Given the description of an element on the screen output the (x, y) to click on. 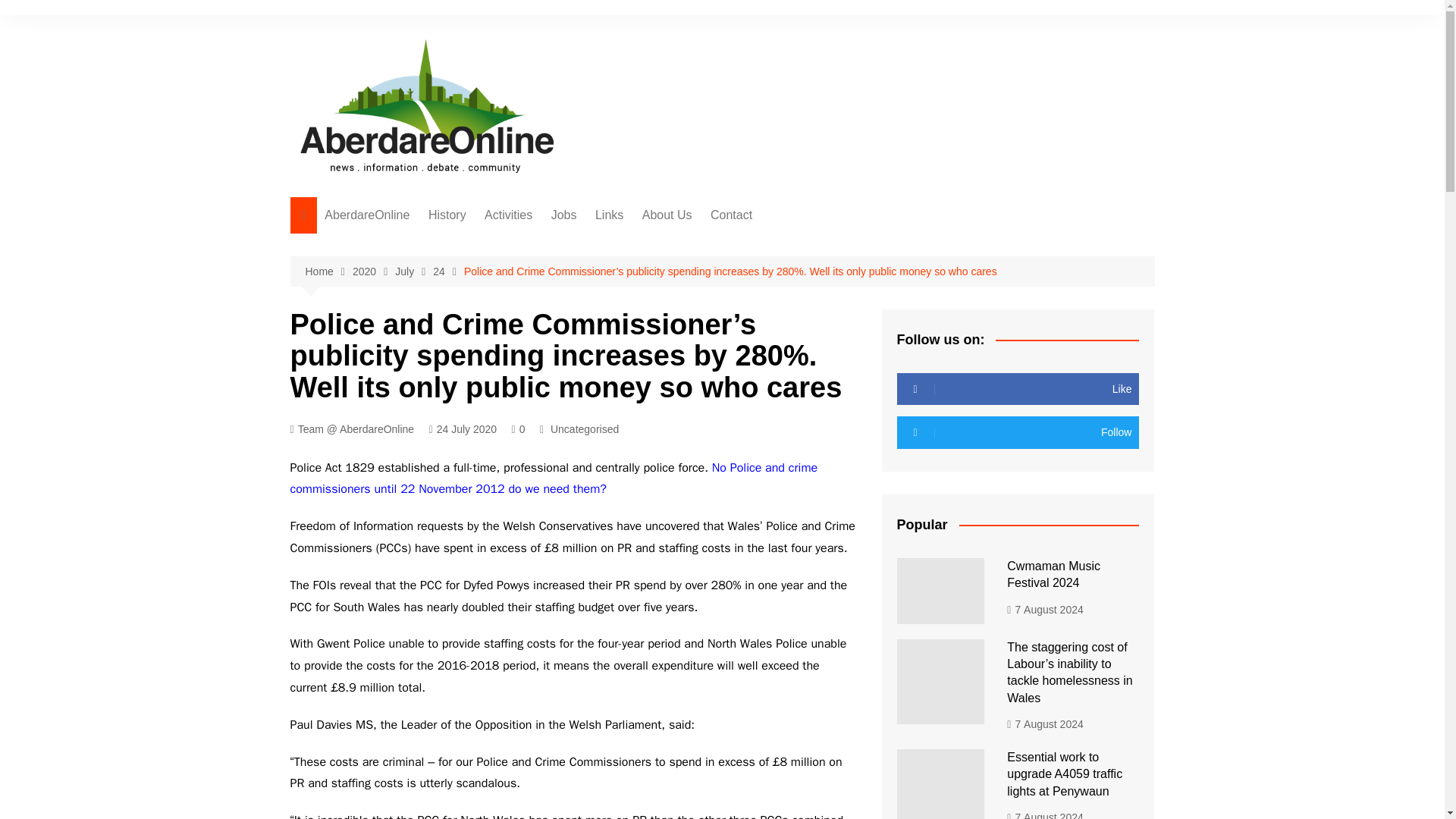
Phurnacite Plant, Abercwmboi (504, 365)
July (413, 271)
2020 (373, 271)
Jobs (564, 215)
Abercynon: a historical walk (504, 295)
Uncategorised (584, 428)
Activities (508, 215)
AberdareOnline (366, 215)
About Us (667, 215)
Links (609, 215)
